Given the description of an element on the screen output the (x, y) to click on. 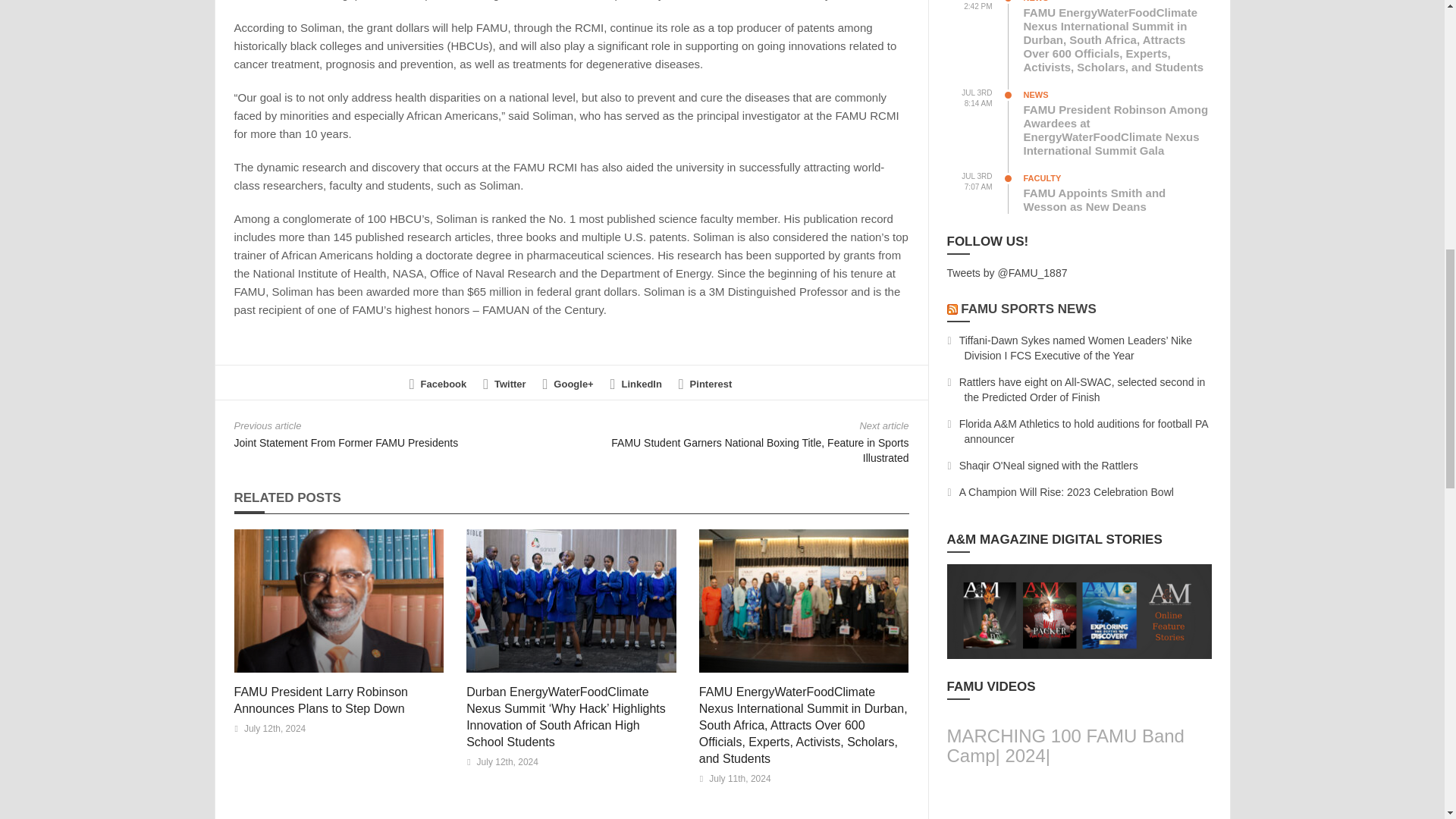
Joint Statement From Former FAMU Presidents (345, 442)
